Given the description of an element on the screen output the (x, y) to click on. 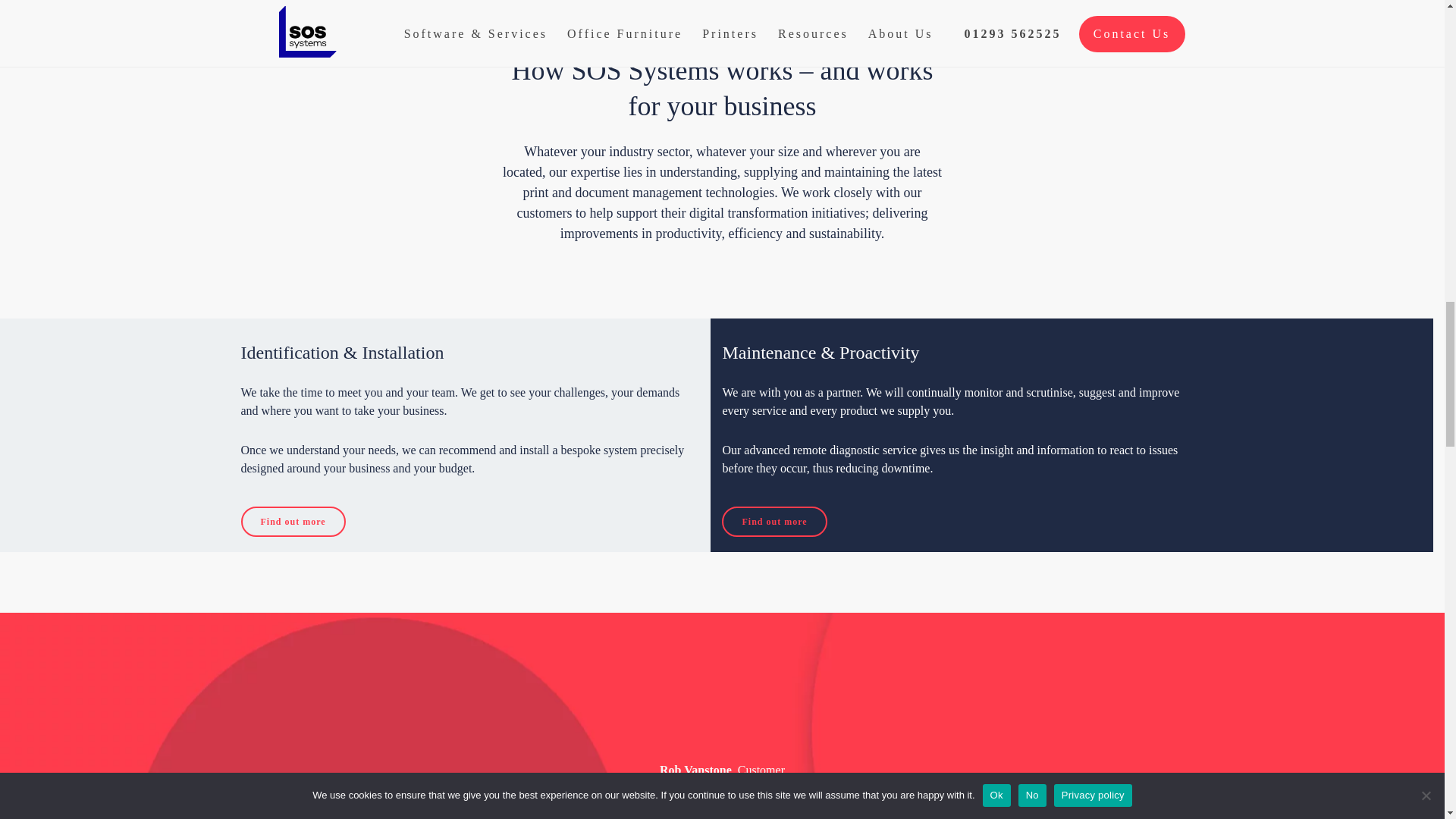
Find out more (774, 521)
Find out more (293, 521)
